Given the description of an element on the screen output the (x, y) to click on. 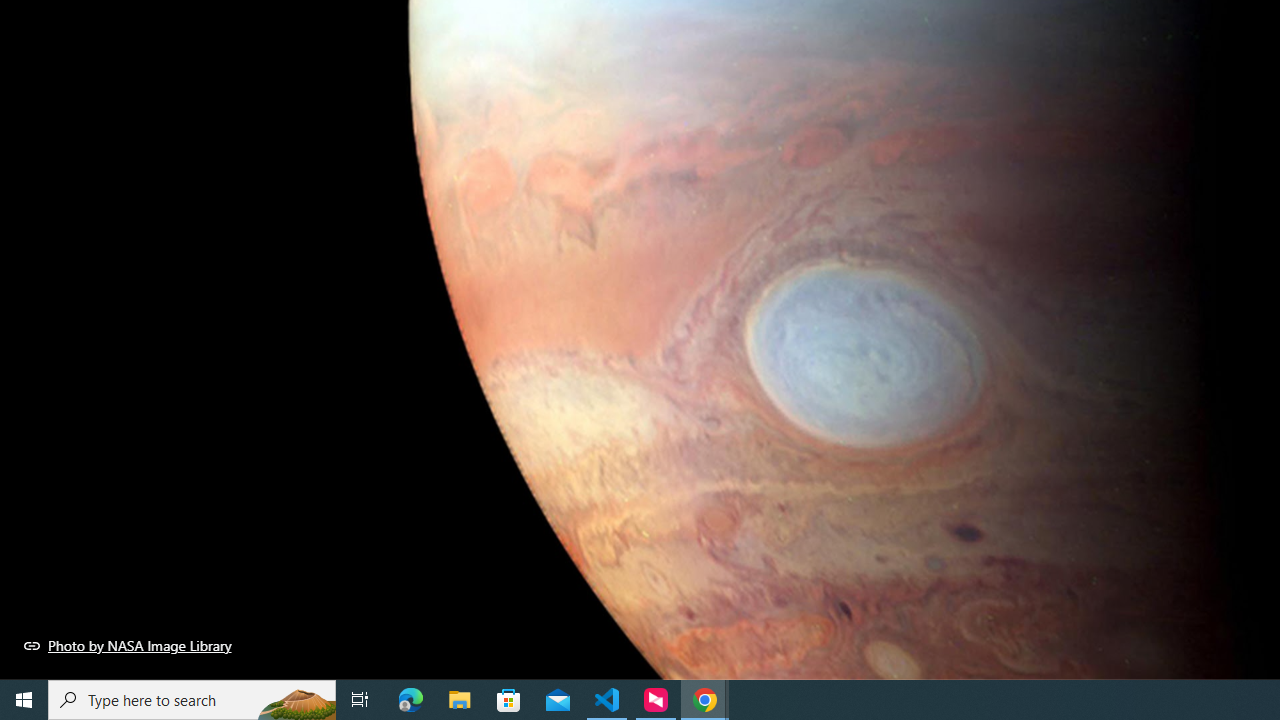
Photo by NASA Image Library (127, 645)
